Given the description of an element on the screen output the (x, y) to click on. 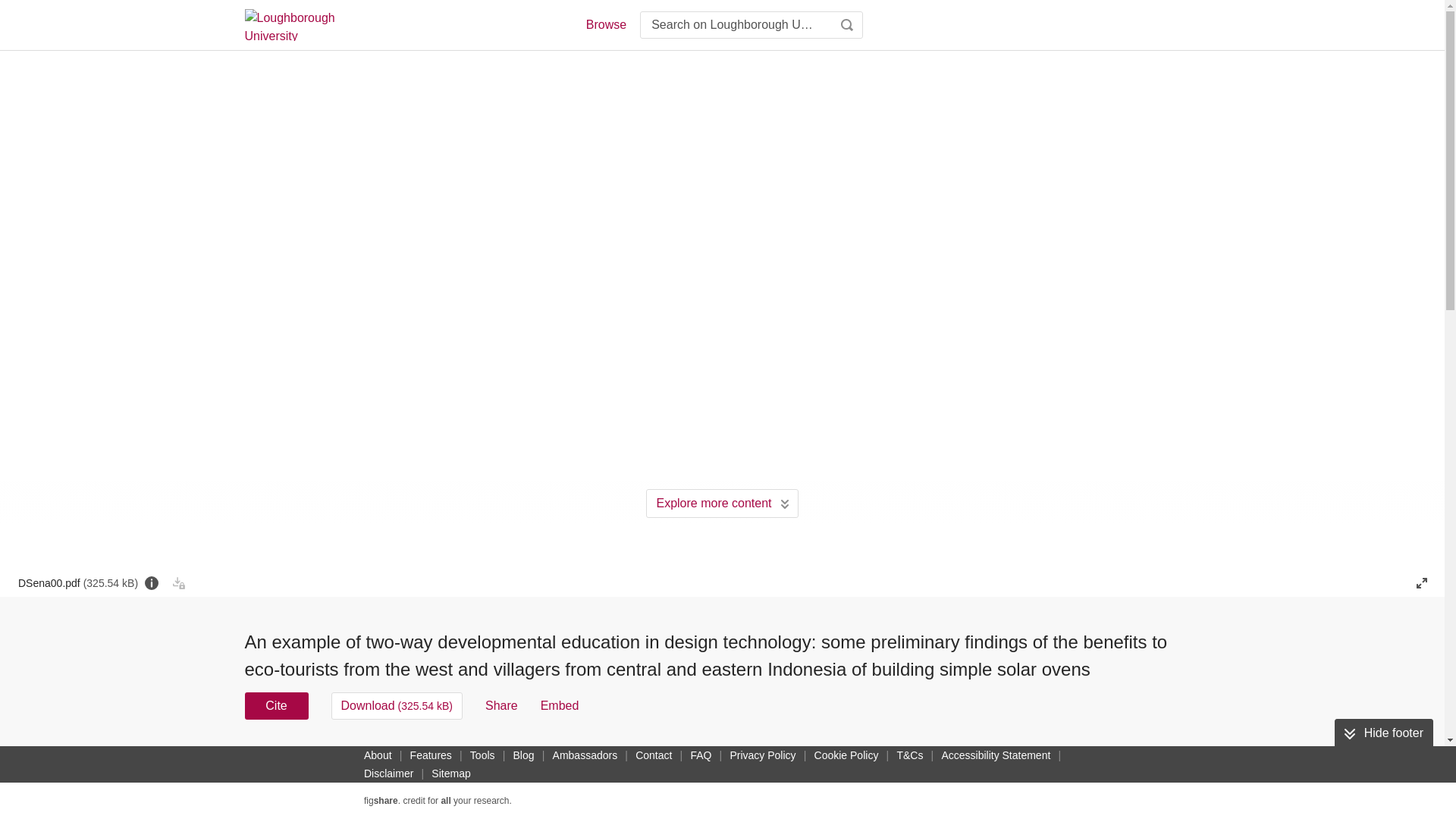
Hide footer (1383, 733)
Share (501, 705)
Blog (523, 755)
DSena00.pdf (77, 583)
Tools (482, 755)
Contact (653, 755)
Cite (275, 705)
Embed (559, 705)
Browse (605, 24)
Explore more content (721, 502)
Ambassadors (585, 755)
Features (431, 755)
About (377, 755)
USAGE METRICS (976, 759)
